Given the description of an element on the screen output the (x, y) to click on. 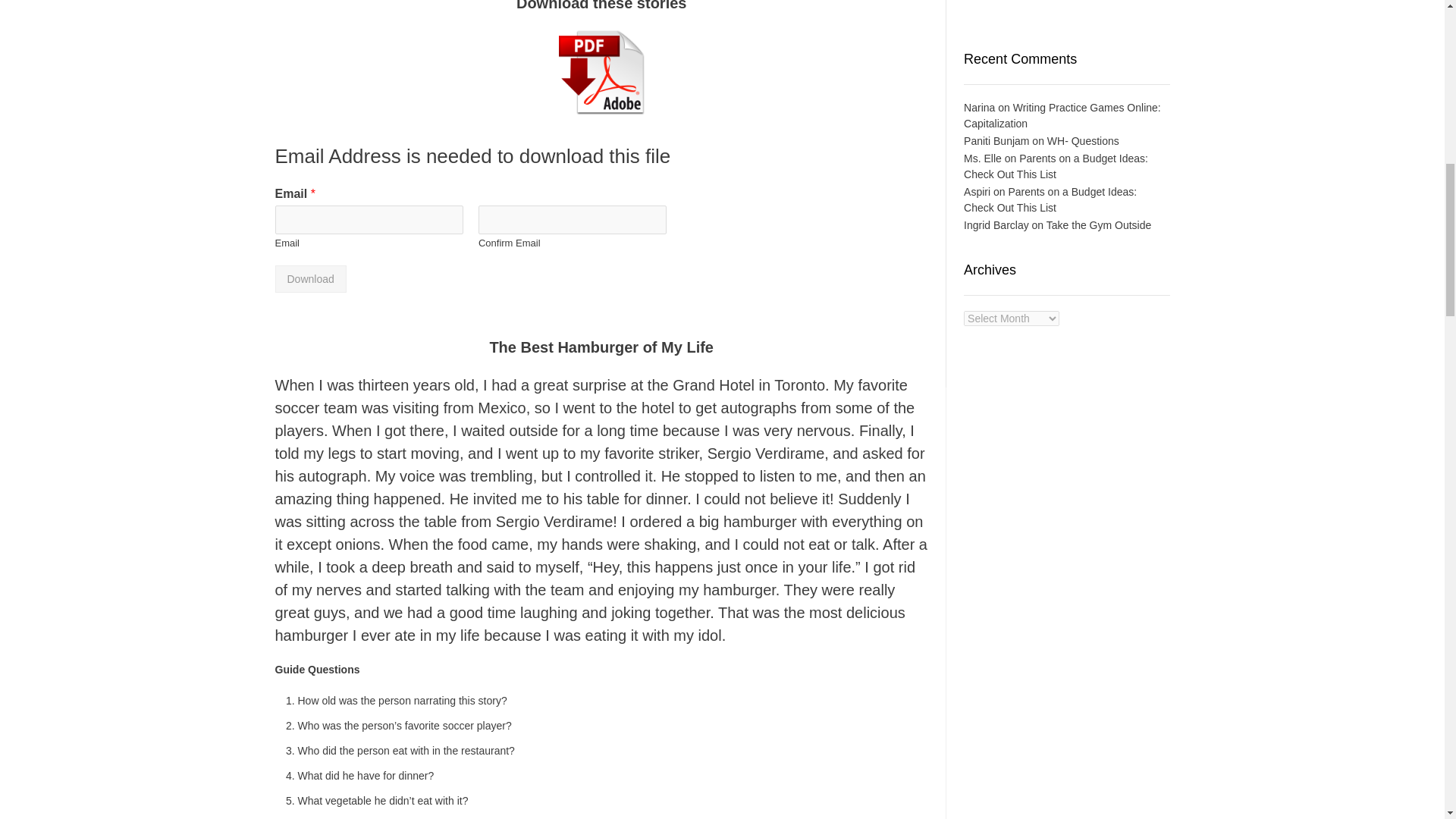
Download (310, 278)
